Given the description of an element on the screen output the (x, y) to click on. 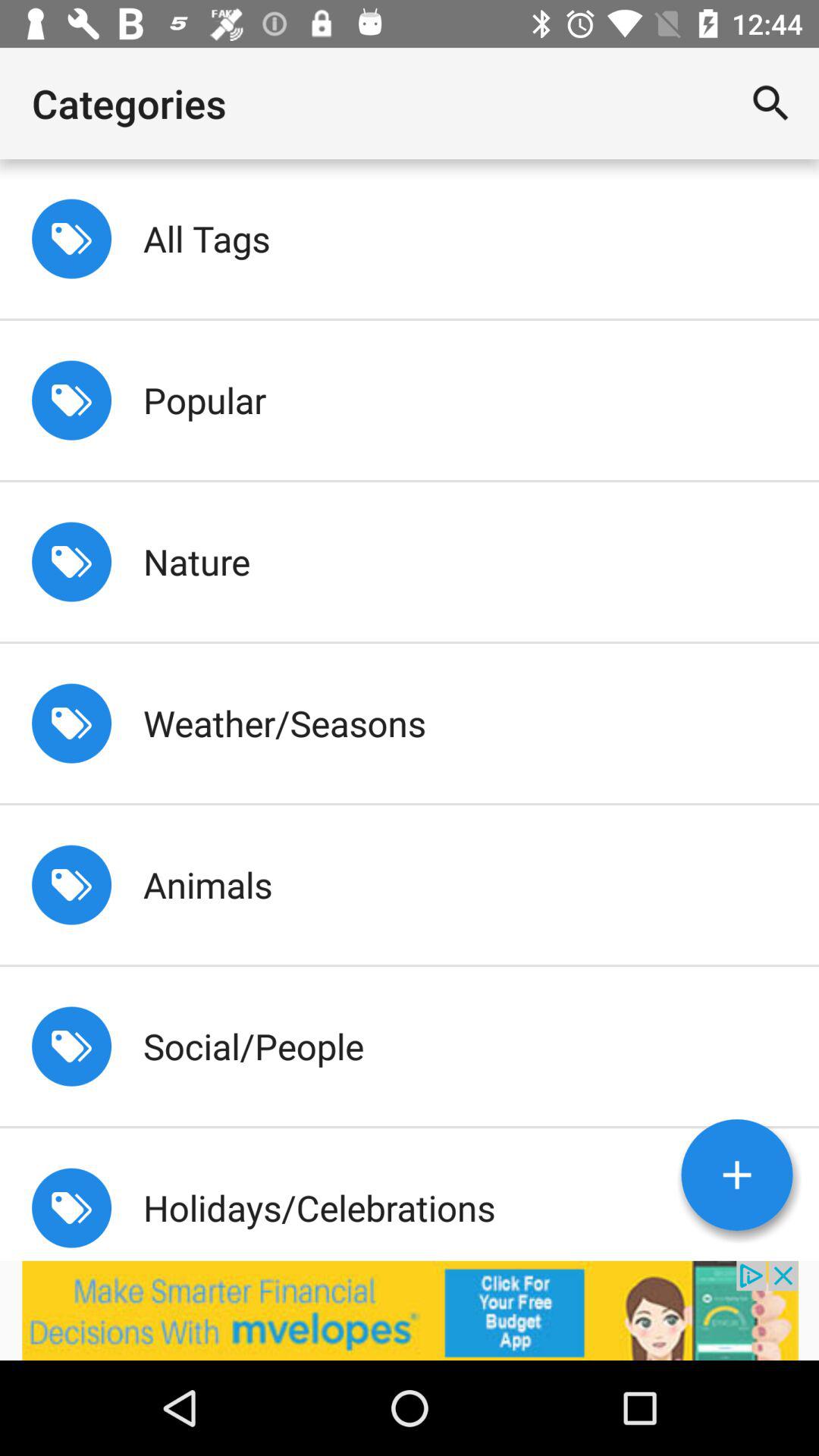
go to the advertisement (409, 1310)
